Given the description of an element on the screen output the (x, y) to click on. 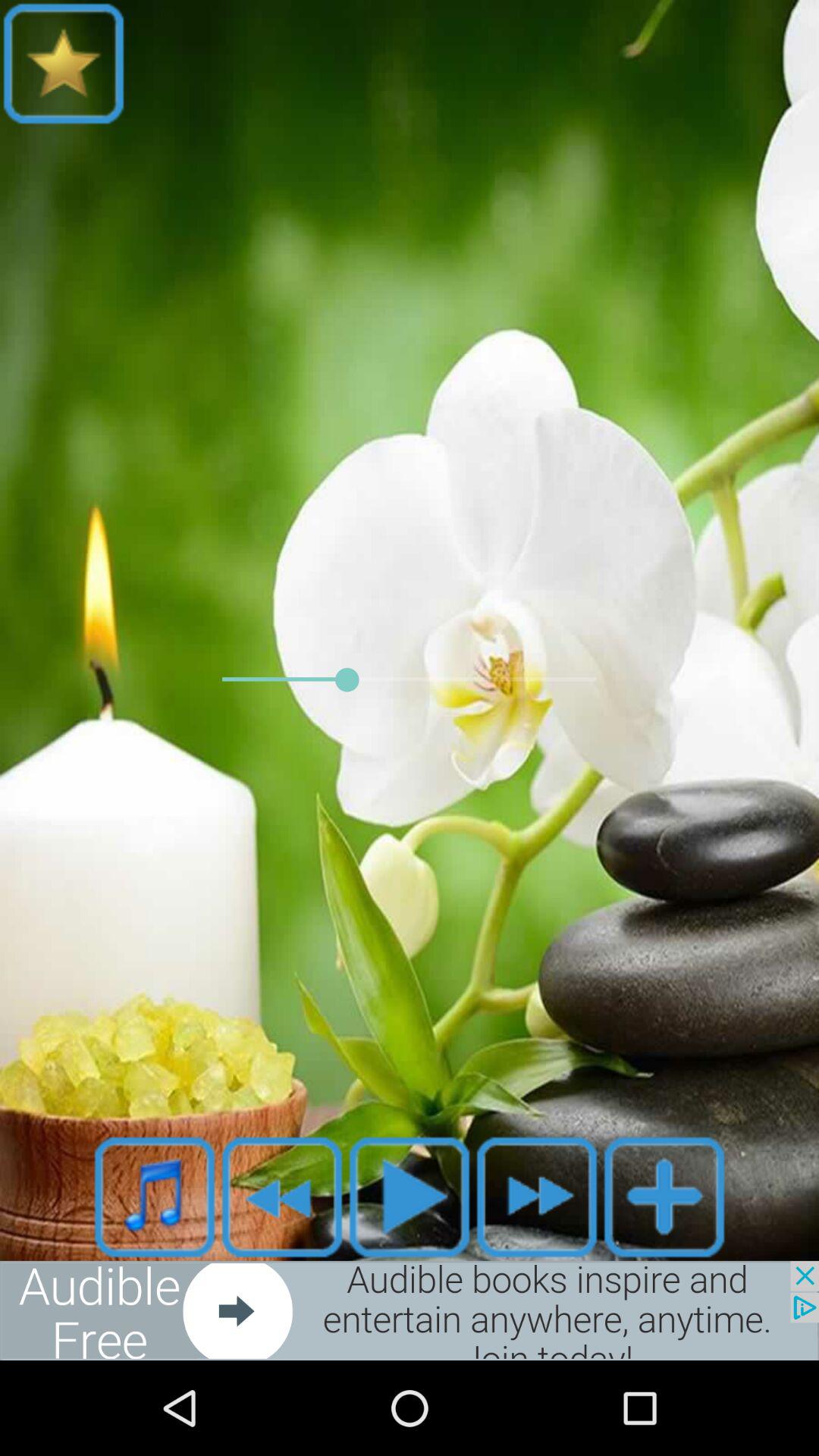
play this (409, 1196)
